Given the description of an element on the screen output the (x, y) to click on. 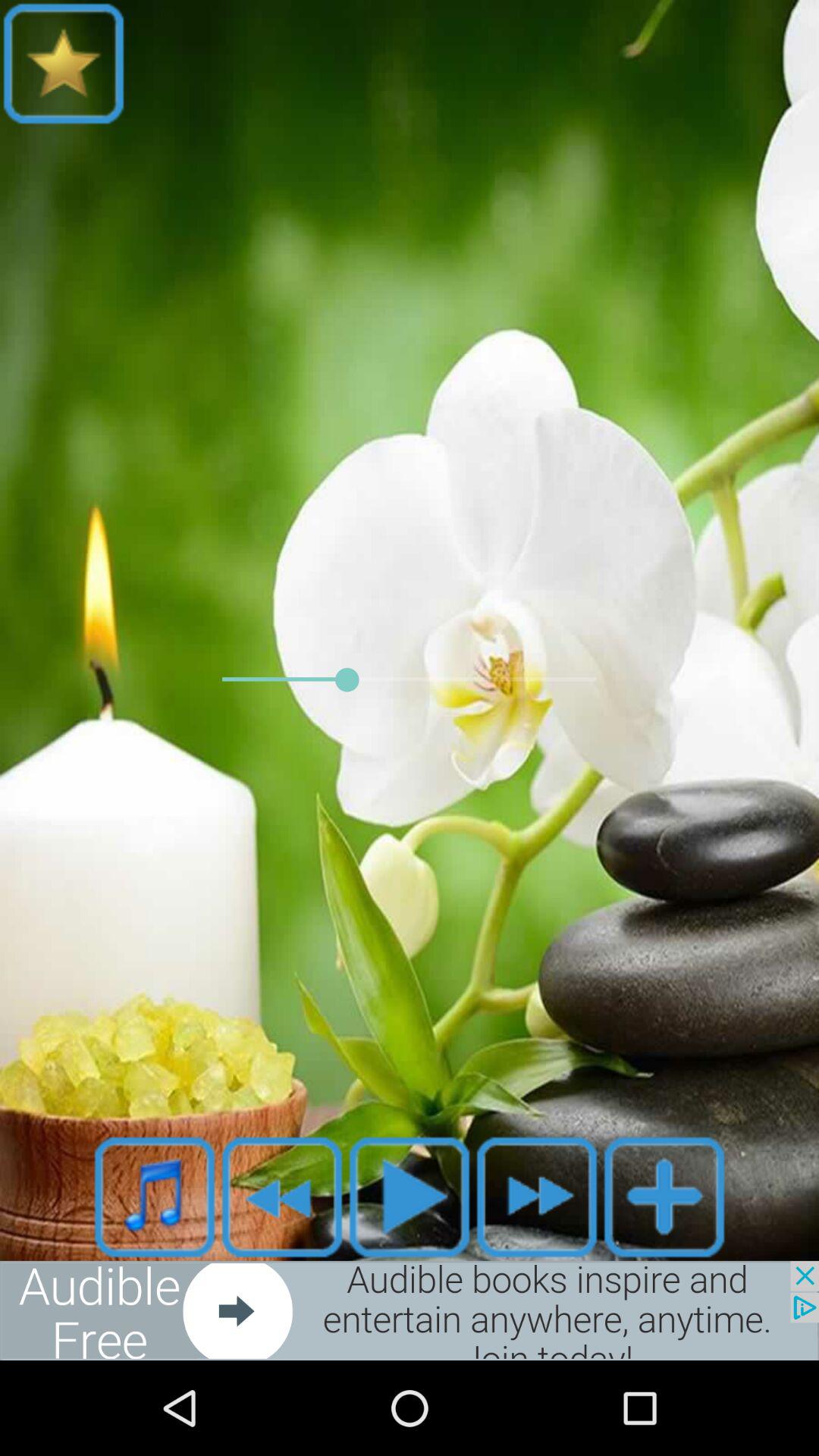
play this (409, 1196)
